Given the description of an element on the screen output the (x, y) to click on. 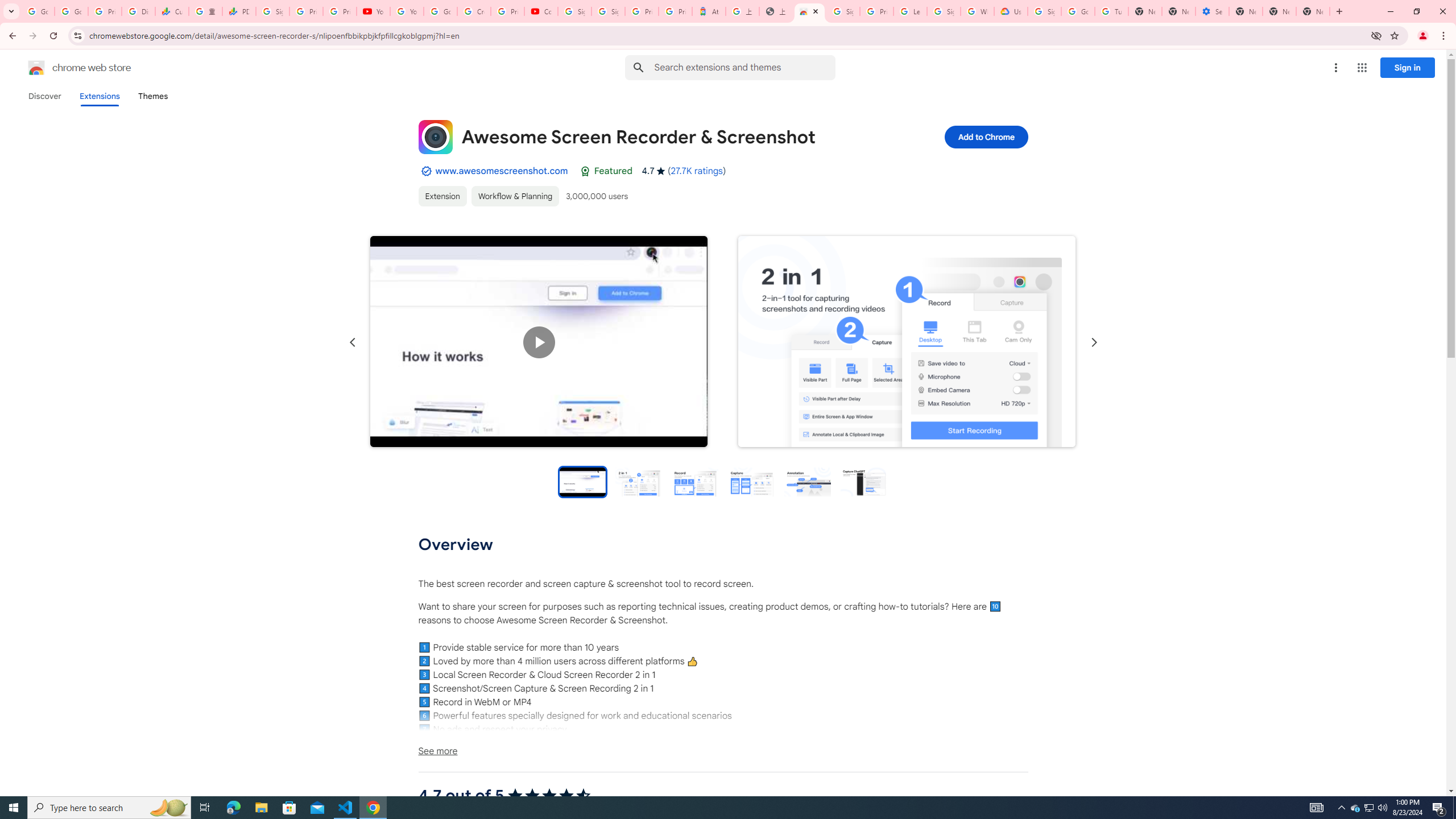
Google Account Help (441, 11)
Workflow & Planning (514, 195)
PDD Holdings Inc - ADR (PDD) Price & News - Google Finance (238, 11)
Search input (744, 67)
Extension (442, 195)
Who are Google's partners? - Privacy and conditions - Google (976, 11)
Privacy Checkup (339, 11)
